Given the description of an element on the screen output the (x, y) to click on. 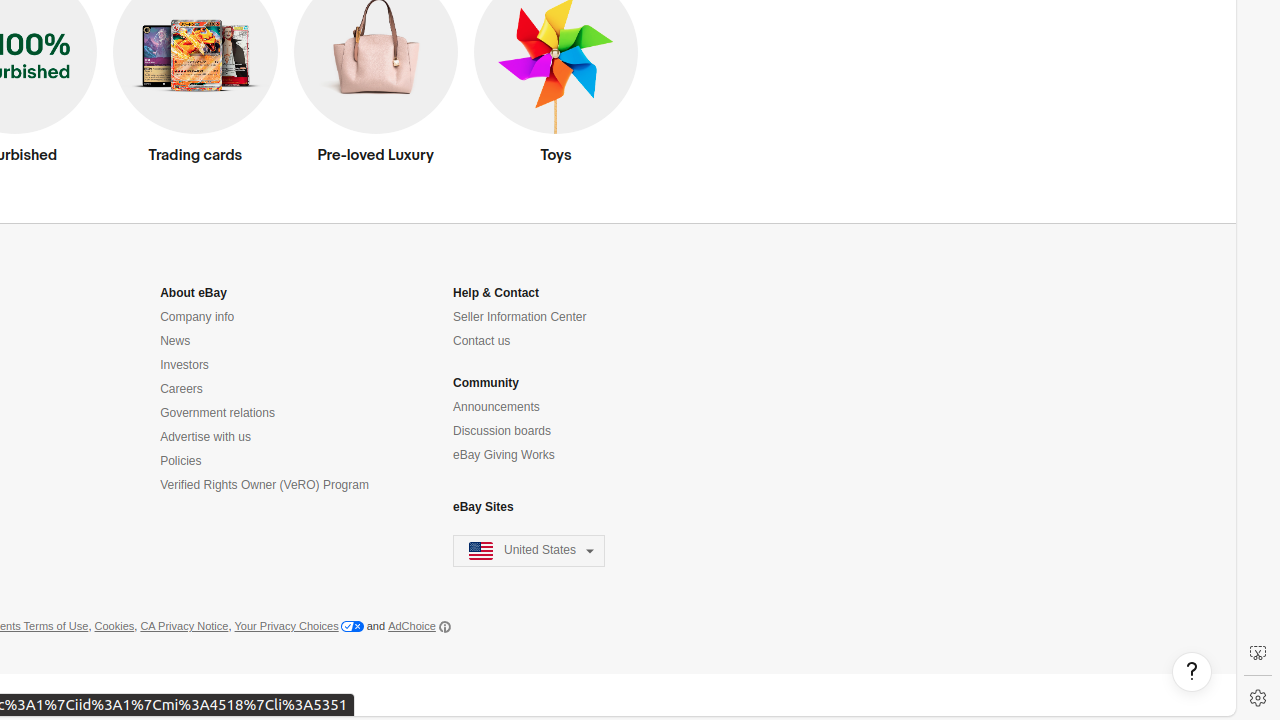
Verified Rights Owner (VeRO) Program Element type: link (264, 485)
AdChoice Element type: link (419, 627)
Announcements Element type: link (496, 407)
